Given the description of an element on the screen output the (x, y) to click on. 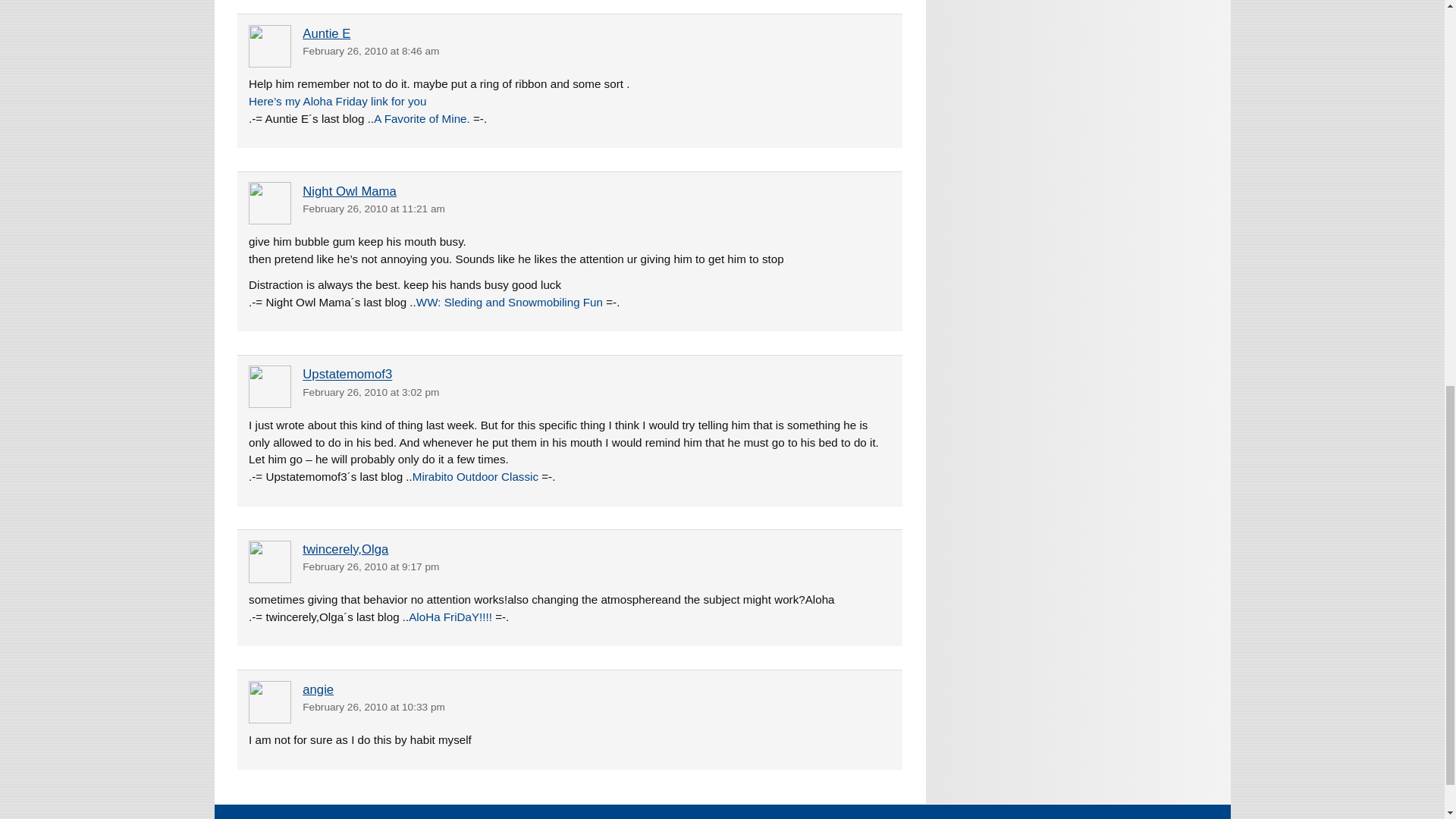
Upstatemomof3 (346, 374)
twincerely,Olga (345, 549)
A Favorite of Mine. (422, 118)
Mirabito Outdoor Classic (475, 476)
February 26, 2010 at 11:21 am (373, 208)
WW: Sleding and Snowmobiling Fun (509, 301)
Auntie E (326, 33)
Night Owl Mama (349, 191)
February 26, 2010 at 3:02 pm (370, 392)
February 26, 2010 at 8:46 am (370, 50)
